Given the description of an element on the screen output the (x, y) to click on. 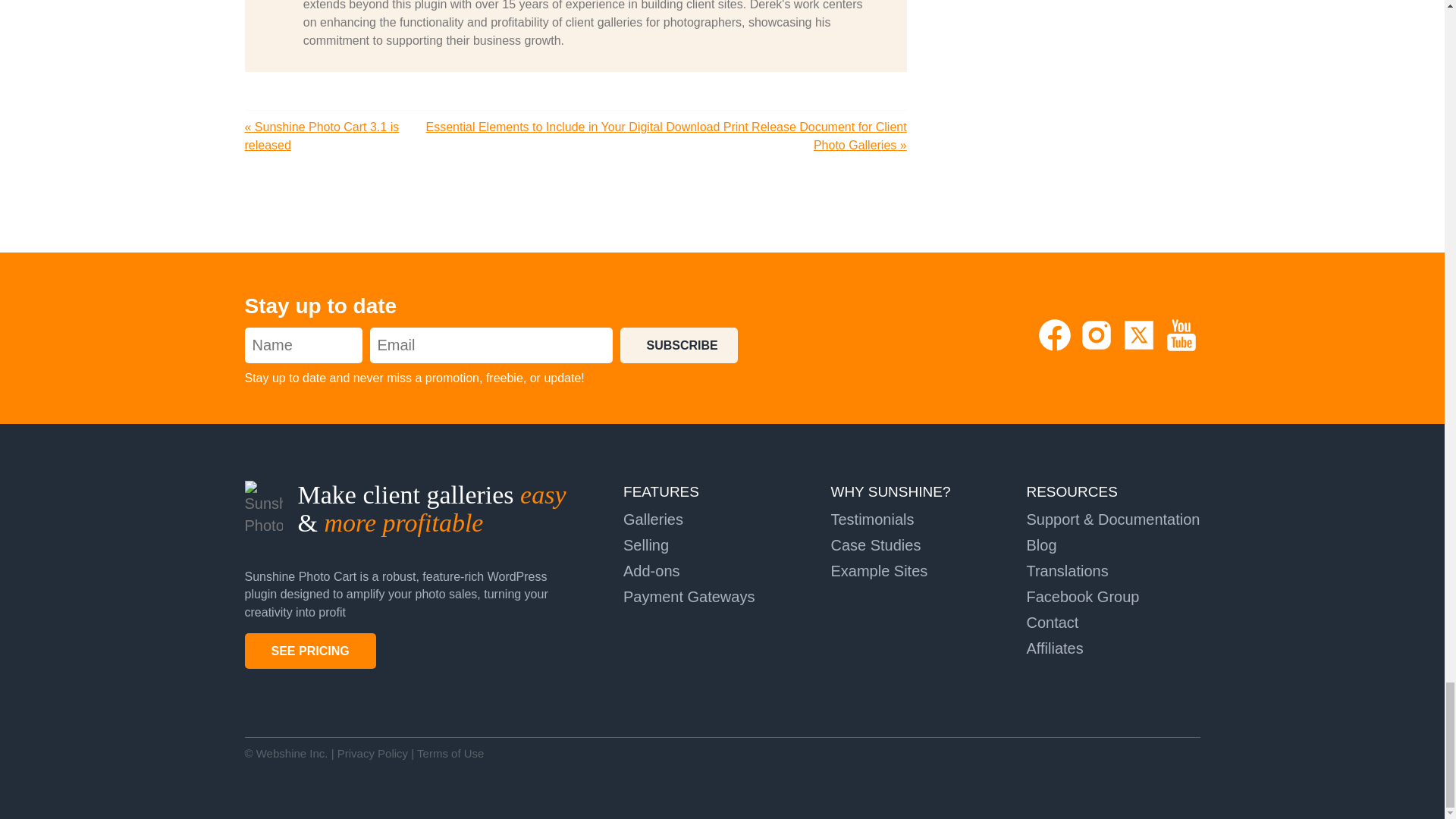
Instagram (1098, 348)
Facebook (1056, 348)
YouTube (1180, 348)
Twitter (1140, 348)
SUBSCRIBE (679, 345)
